Given the description of an element on the screen output the (x, y) to click on. 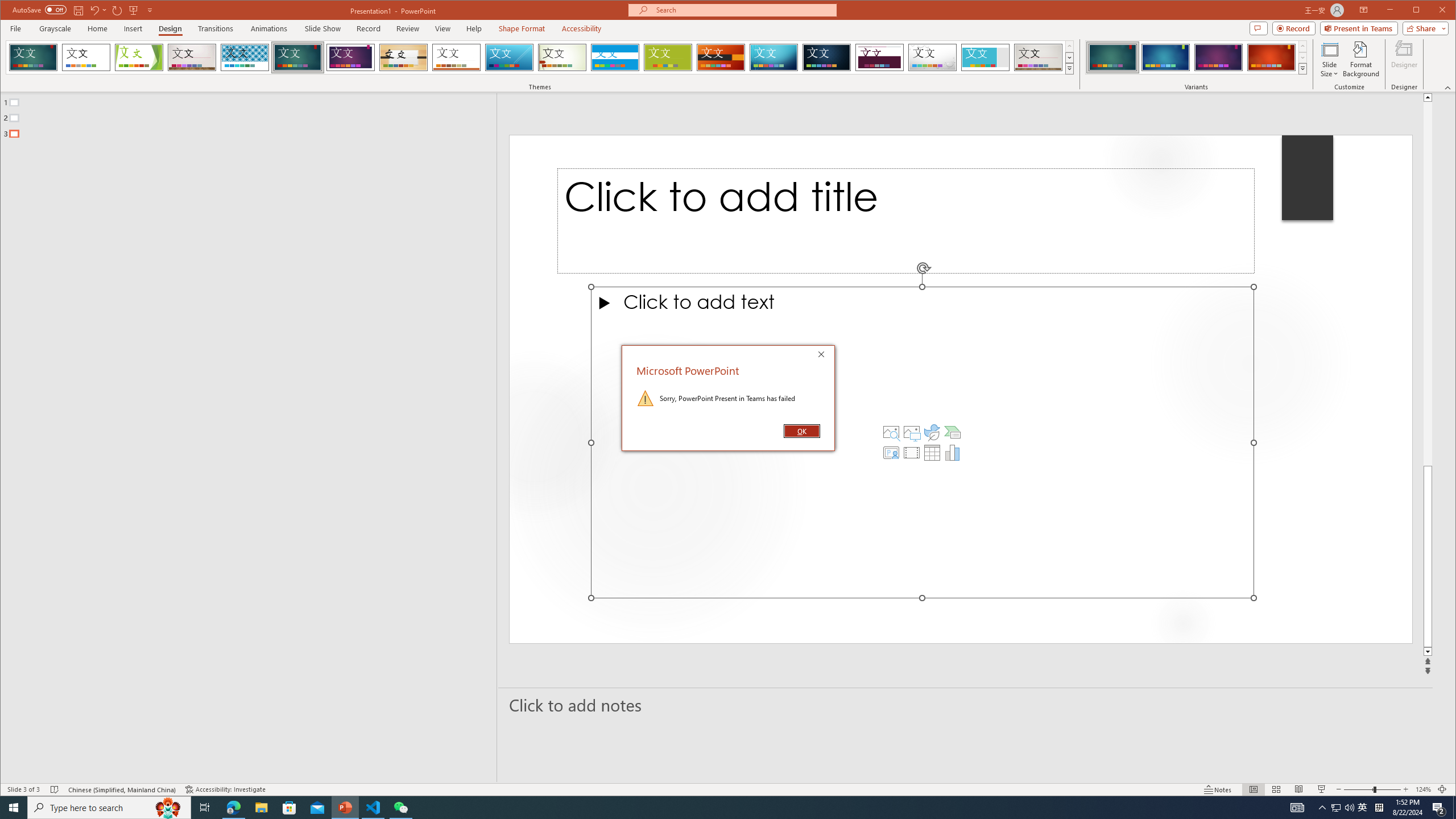
Wisp (561, 57)
Integral (244, 57)
Office Theme (85, 57)
Slide Size (1328, 59)
Facet (138, 57)
Insert Cameo (890, 452)
Variants (1302, 68)
Page up (1427, 283)
Action Center, 2 new notifications (1439, 807)
Microsoft Edge - 1 running window (233, 807)
Basis (668, 57)
